Given the description of an element on the screen output the (x, y) to click on. 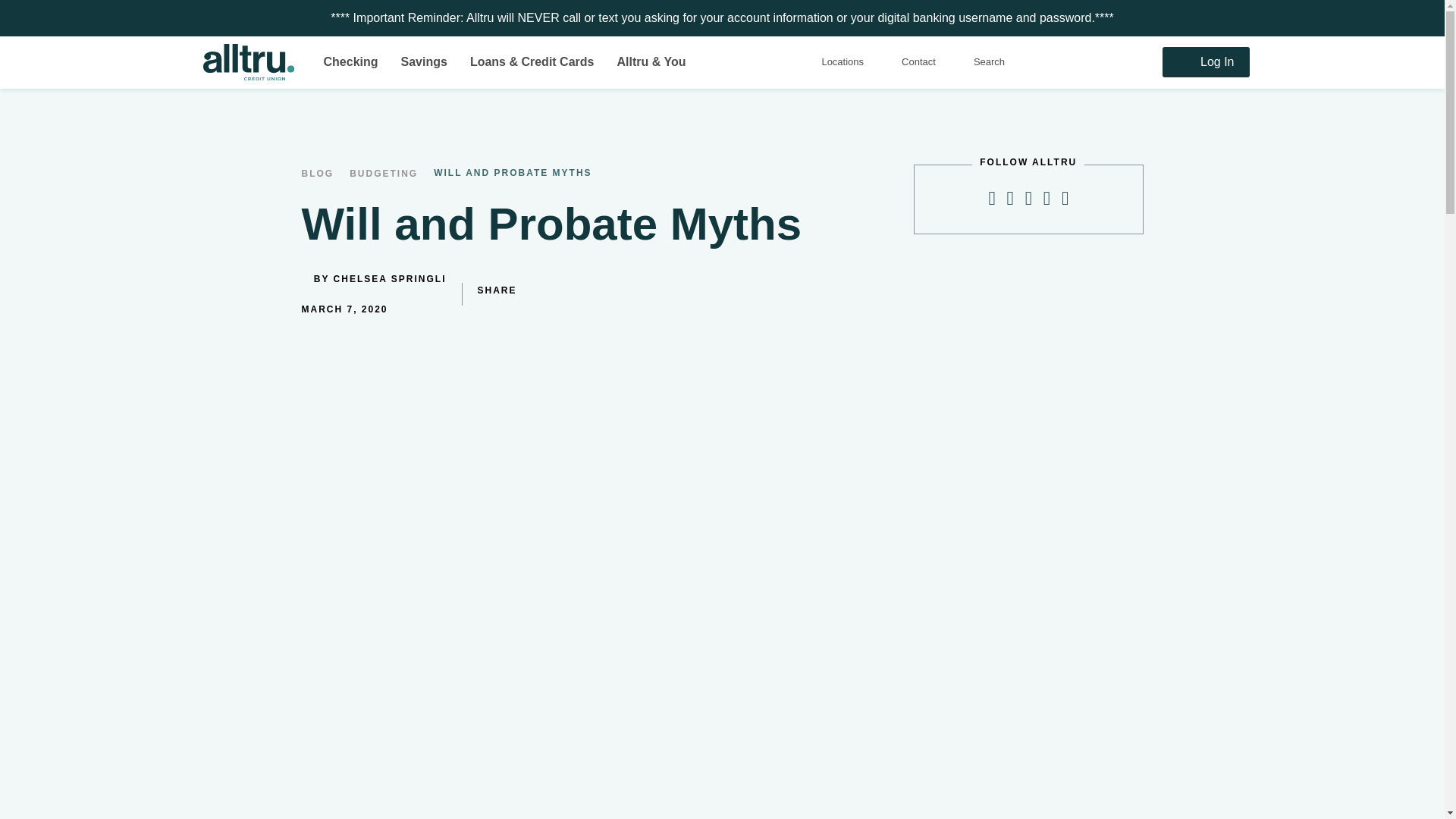
Search the Alltru site (989, 61)
Click to Contact Alltru (918, 61)
Checking (346, 61)
Savings (419, 61)
See Alltru Locations (842, 61)
Alltru Credit Union (252, 62)
Visit the Alltru Credit Union homepage. Created with Sketch. (248, 62)
Visit the Alltru Credit Union homepage. Created with Sketch. (252, 62)
